Given the description of an element on the screen output the (x, y) to click on. 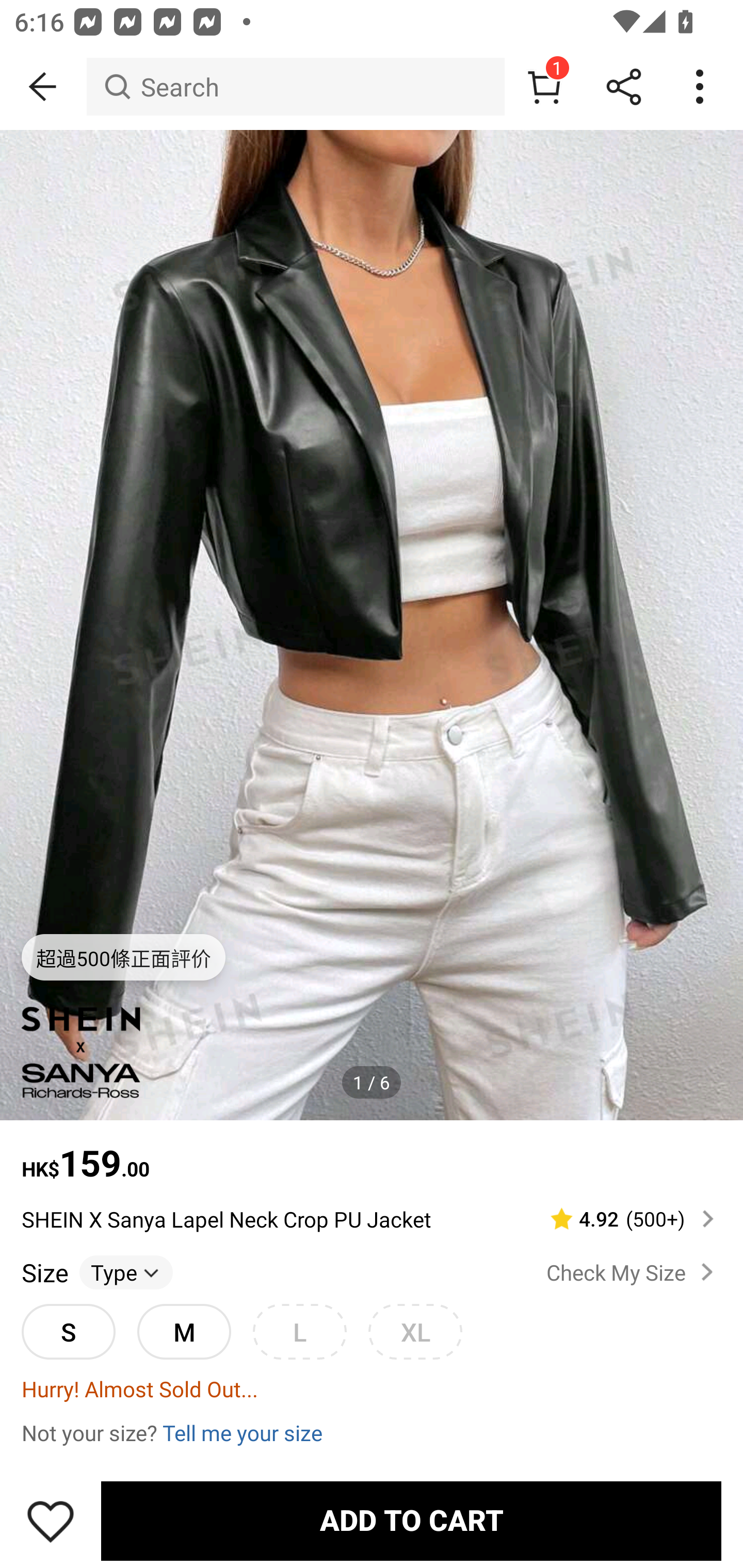
BACK (43, 86)
1 (543, 87)
Search (295, 87)
1 / 6 (371, 1082)
HK$159.00 (371, 1152)
4.92 (500‎+) (623, 1219)
Size (44, 1271)
Type (126, 1271)
Check My Size (633, 1272)
S Sunselected option (68, 1331)
M Munselected option (184, 1331)
L (299, 1331)
XL (415, 1331)
Hurry! Almost Sold Out... (371, 1388)
Not your size? Tell me your size (371, 1432)
ADD TO CART (411, 1520)
Save (50, 1520)
